Given the description of an element on the screen output the (x, y) to click on. 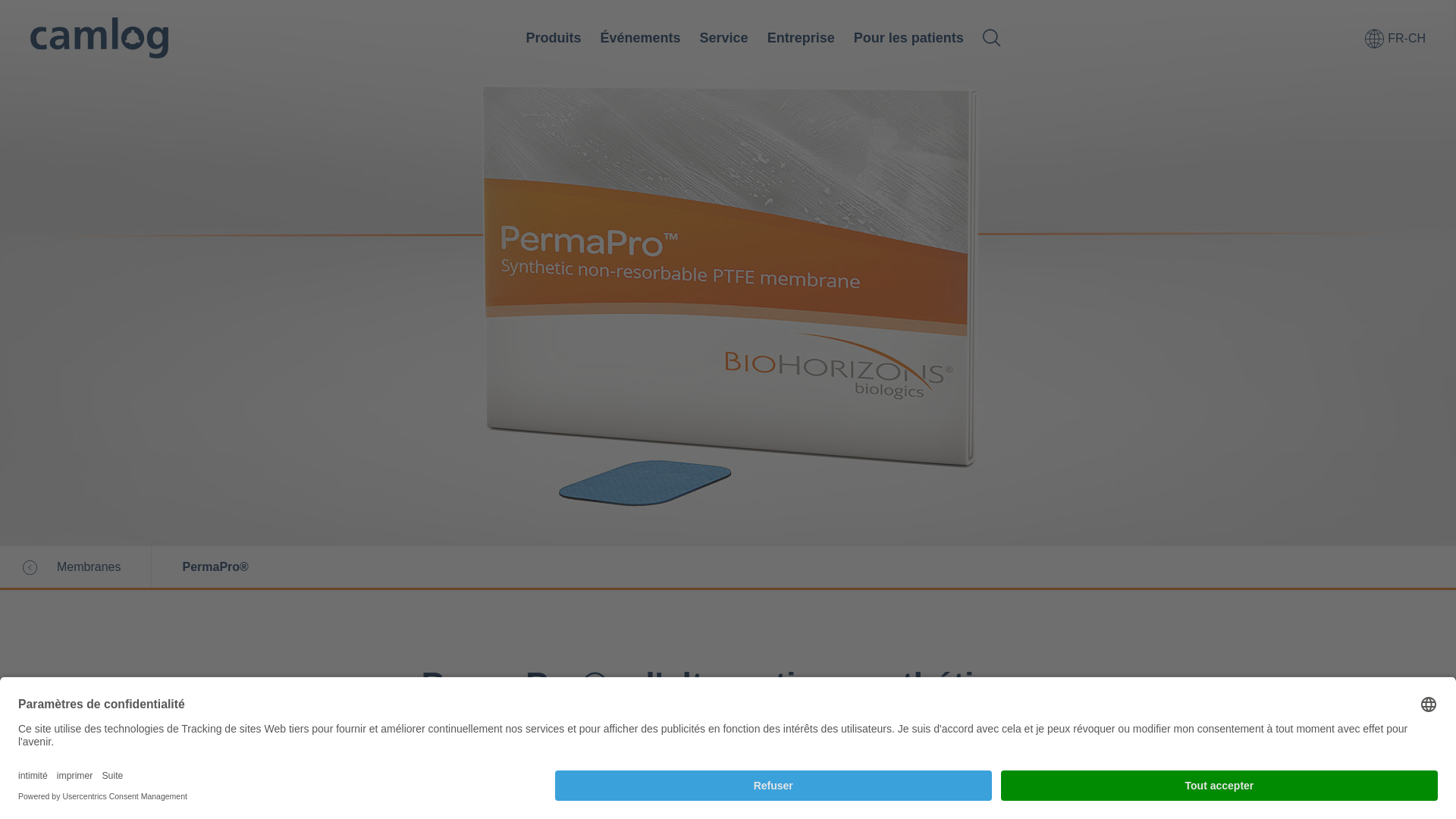
Pour les patients Element type: text (908, 37)
Membranes Element type: text (81, 566)
Entreprise Element type: text (800, 37)
Service Element type: text (723, 37)
FR-CH Element type: text (1395, 38)
Produits Element type: text (553, 37)
